Given the description of an element on the screen output the (x, y) to click on. 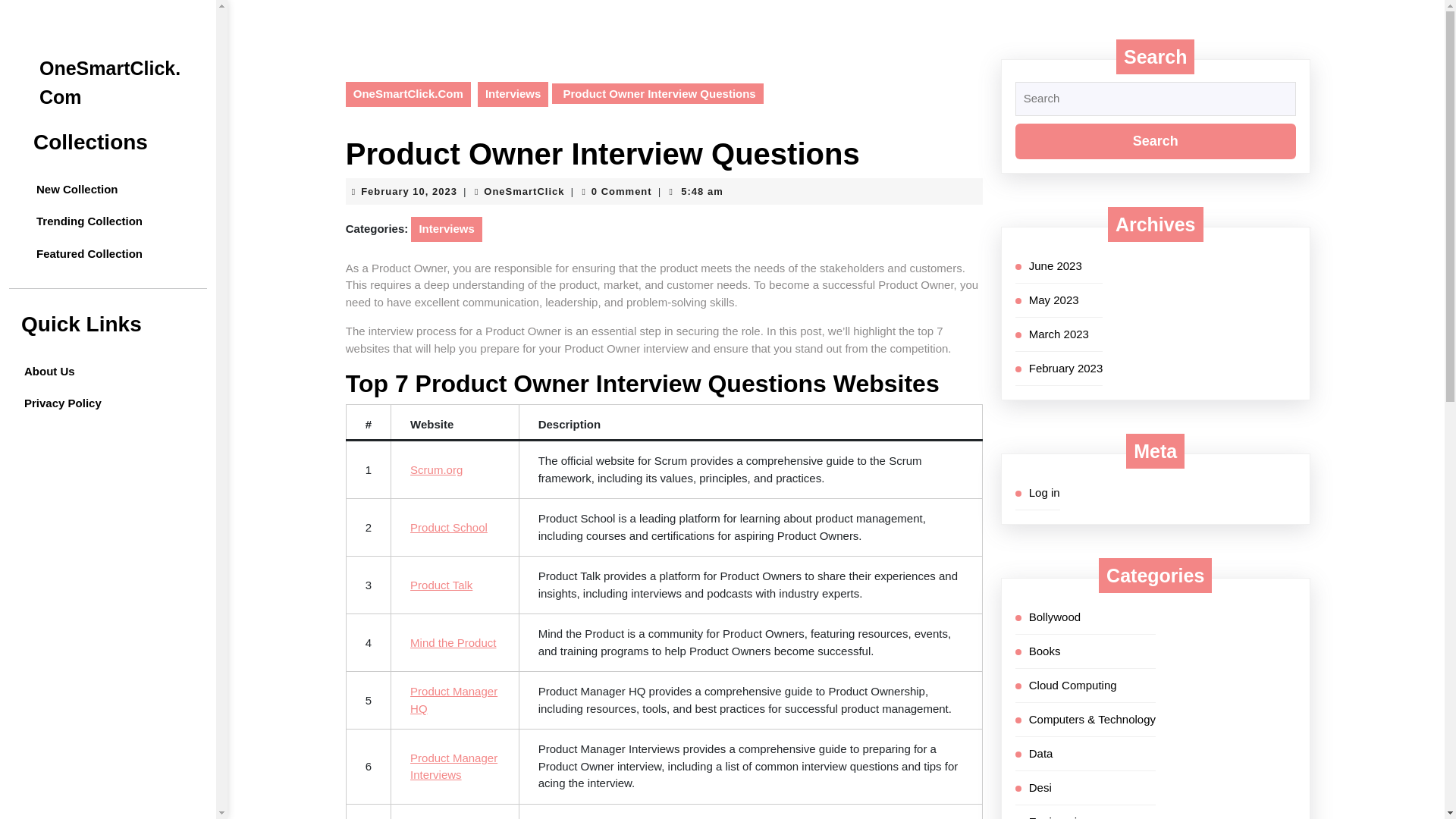
Search (1154, 140)
Search (1154, 140)
Scrum.org (436, 469)
February 2023 (1066, 367)
Cloud Computing (1072, 684)
Mind the Product (453, 642)
Product Manager HQ (453, 699)
Trending Collection (113, 221)
Books (1045, 650)
Bollywood (1054, 615)
